Given the description of an element on the screen output the (x, y) to click on. 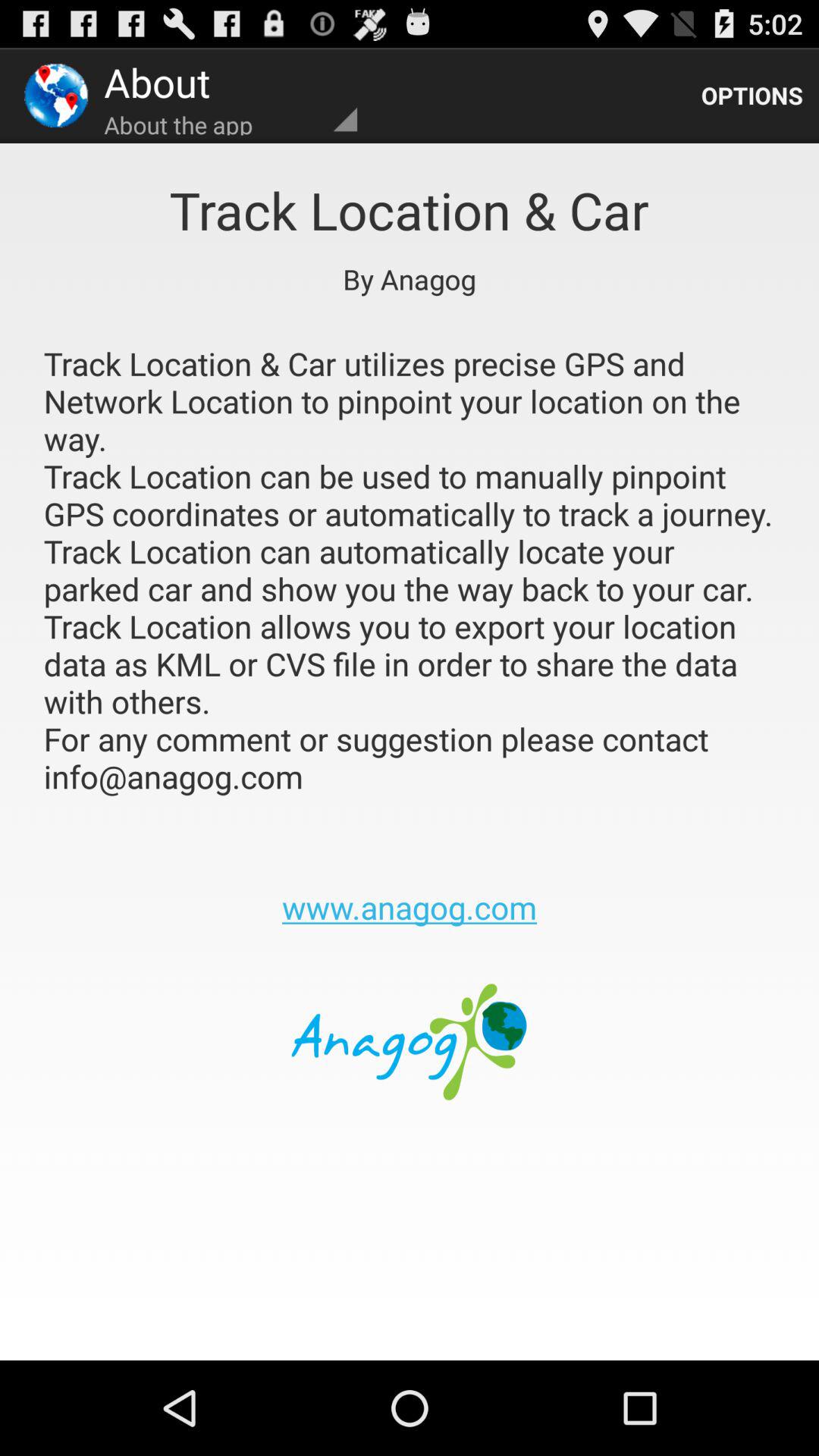
open the item at the top right corner (752, 95)
